Given the description of an element on the screen output the (x, y) to click on. 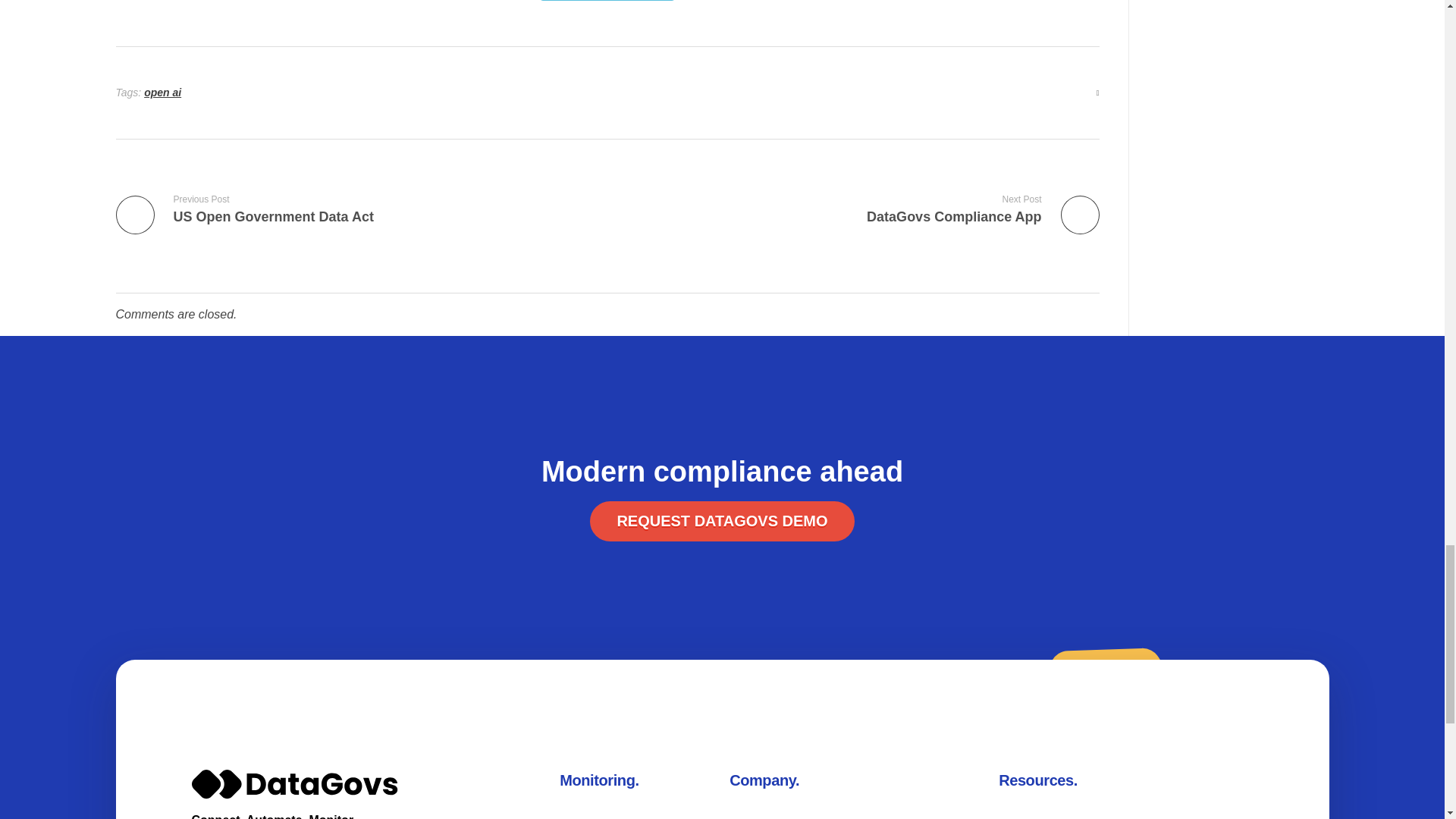
DataGovs (233, 807)
REQUEST DATAGOVS DEMO (721, 521)
Get Started (606, 0)
open ai (162, 92)
DataGovs (859, 208)
DataGovs (233, 807)
